Given the description of an element on the screen output the (x, y) to click on. 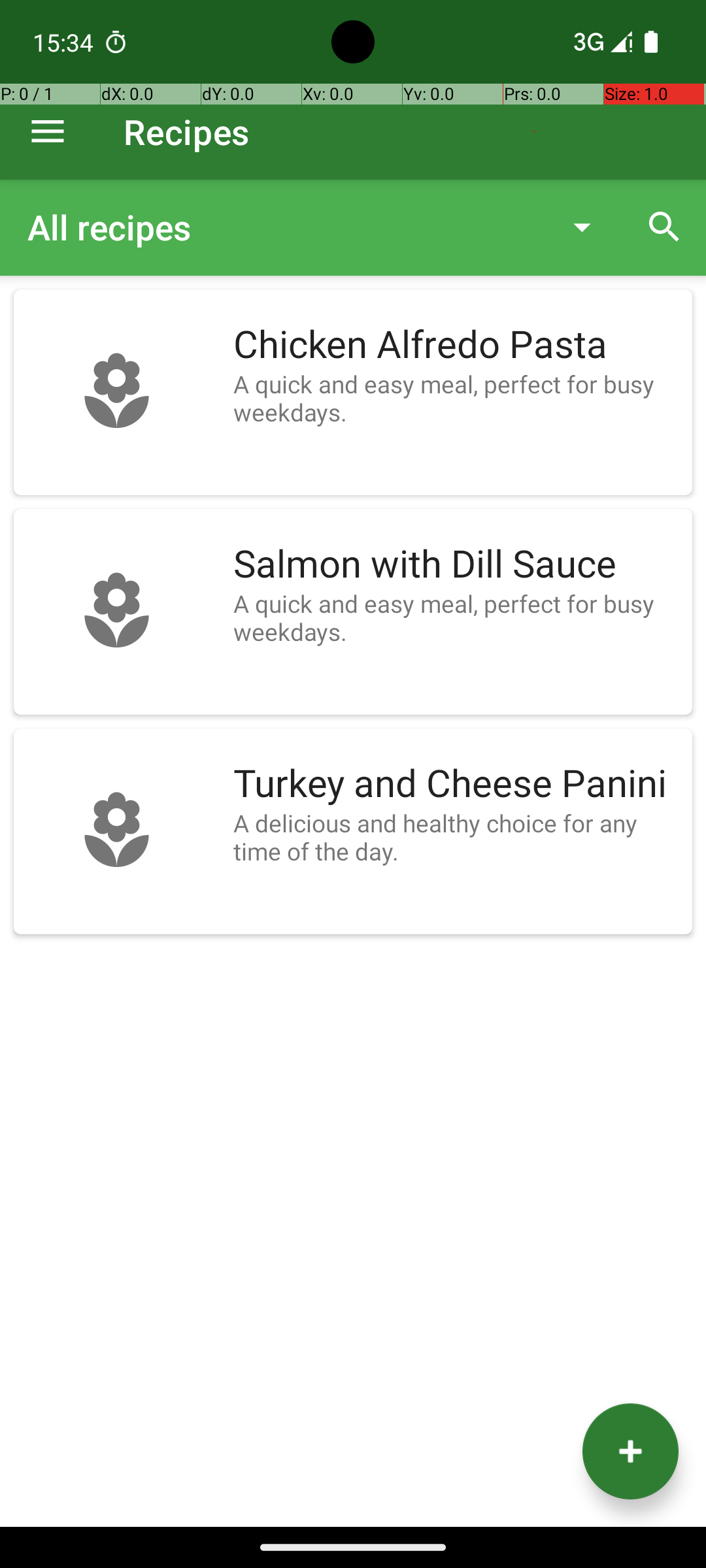
Salmon with Dill Sauce Element type: android.widget.TextView (455, 564)
Turkey and Cheese Panini Element type: android.widget.TextView (455, 783)
